Given the description of an element on the screen output the (x, y) to click on. 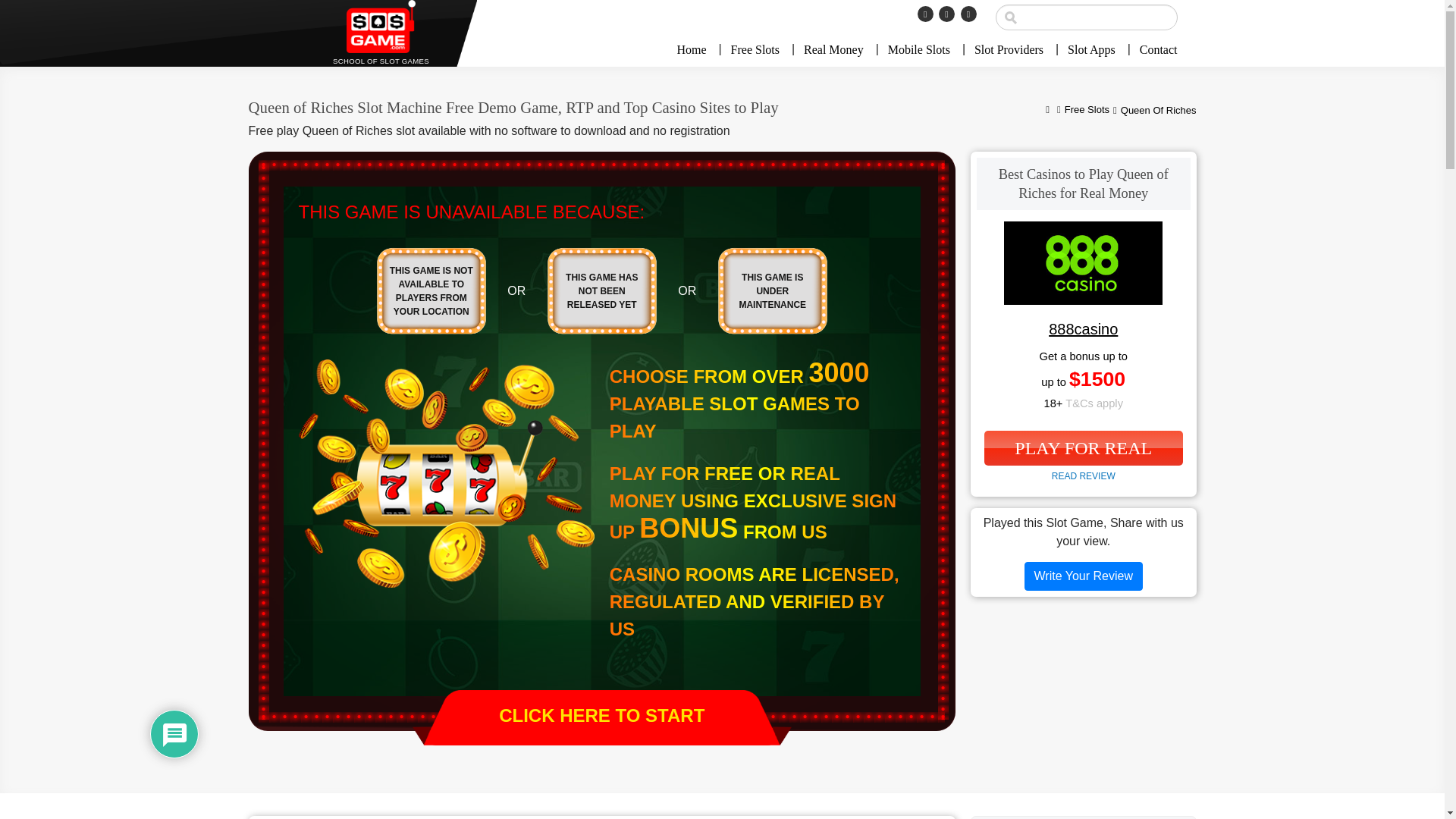
CLICK HERE TO START (602, 717)
Mobile Slots (919, 49)
Slot Apps (1090, 49)
View all posts in Free Slots (1086, 110)
Write Your Review (1083, 575)
Home (697, 49)
READ REVIEW (1083, 476)
Free Slots (755, 49)
SCHOOL OF SLOT GAMES (380, 32)
Slot Providers (1008, 49)
Free Slots (1086, 110)
Home (1047, 110)
Contact (1151, 49)
PLAY FOR REAL (1083, 448)
Real Money (834, 49)
